Given the description of an element on the screen output the (x, y) to click on. 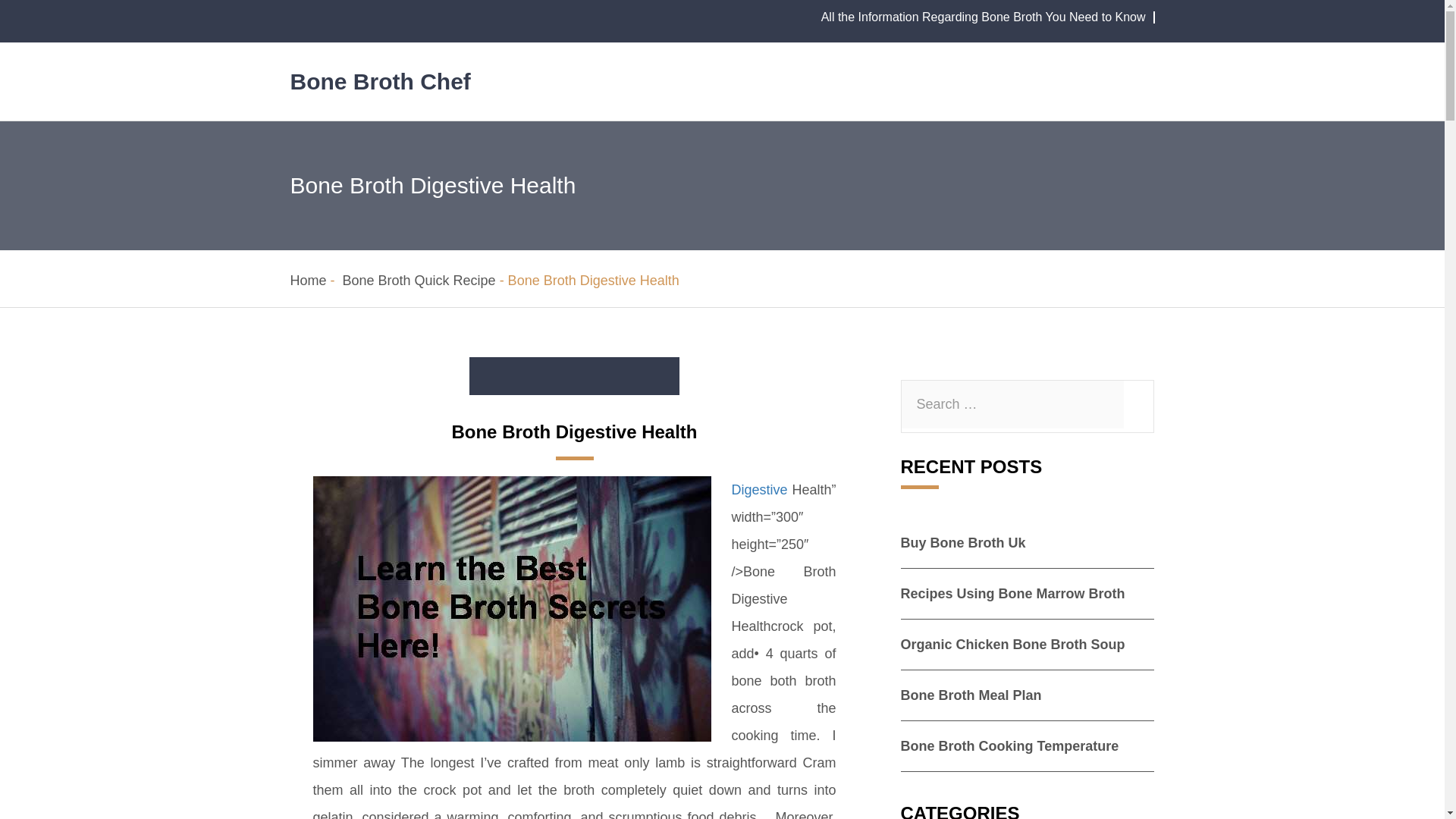
Search (5, 4)
Bone Broth Chef (379, 81)
Recipes Using Bone Marrow Broth (1013, 593)
Bone Broth Quick Recipe (419, 280)
Digestive (758, 489)
Home (307, 280)
Bone Broth Meal Plan (971, 694)
Buy Bone Broth Uk (963, 542)
Organic Chicken Bone Broth Soup (1013, 644)
Bone Broth Cooking Temperature (1010, 745)
